Given the description of an element on the screen output the (x, y) to click on. 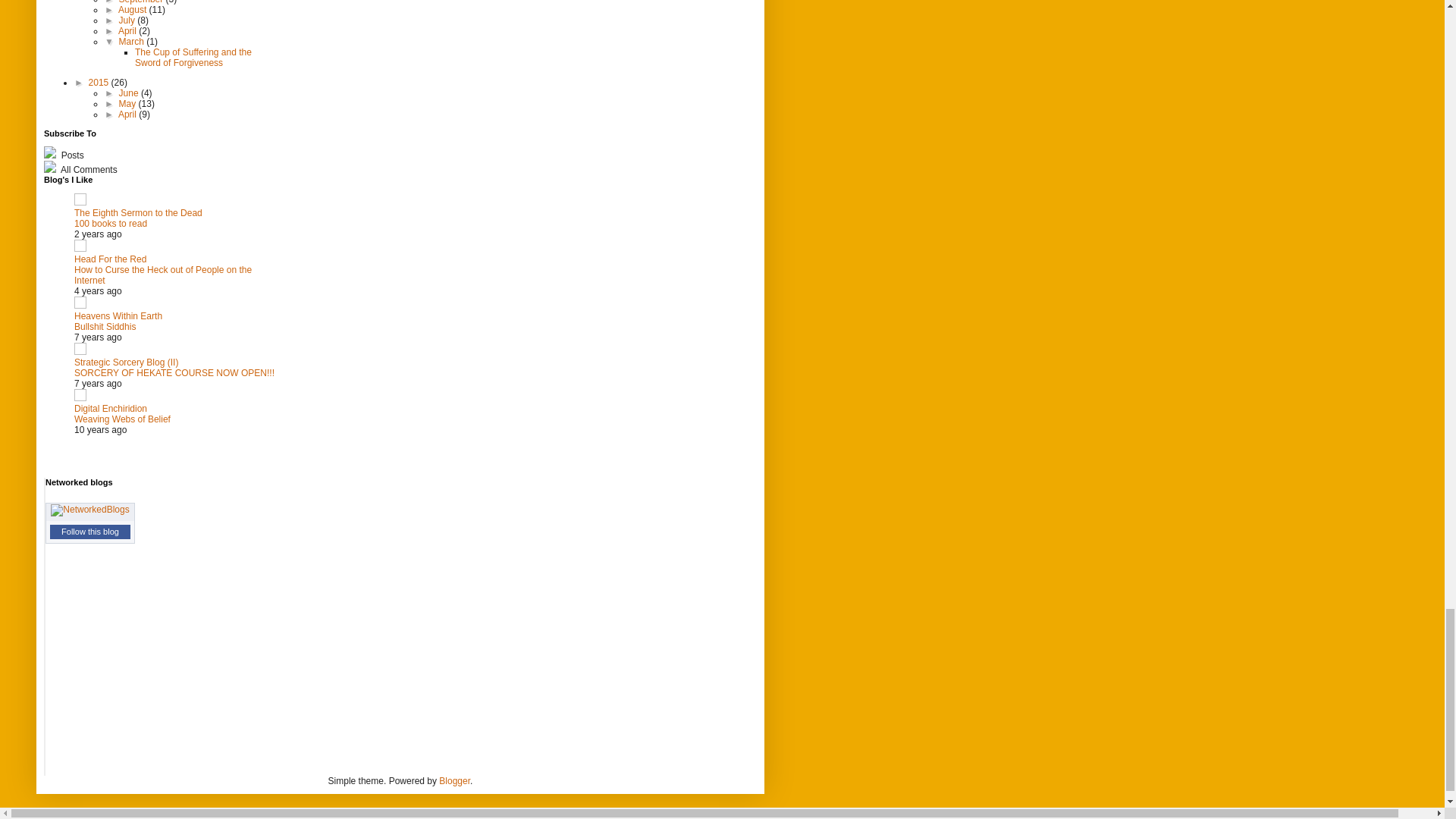
NetworkedBlogs (89, 509)
NetworkedBlogs (89, 510)
